Given the description of an element on the screen output the (x, y) to click on. 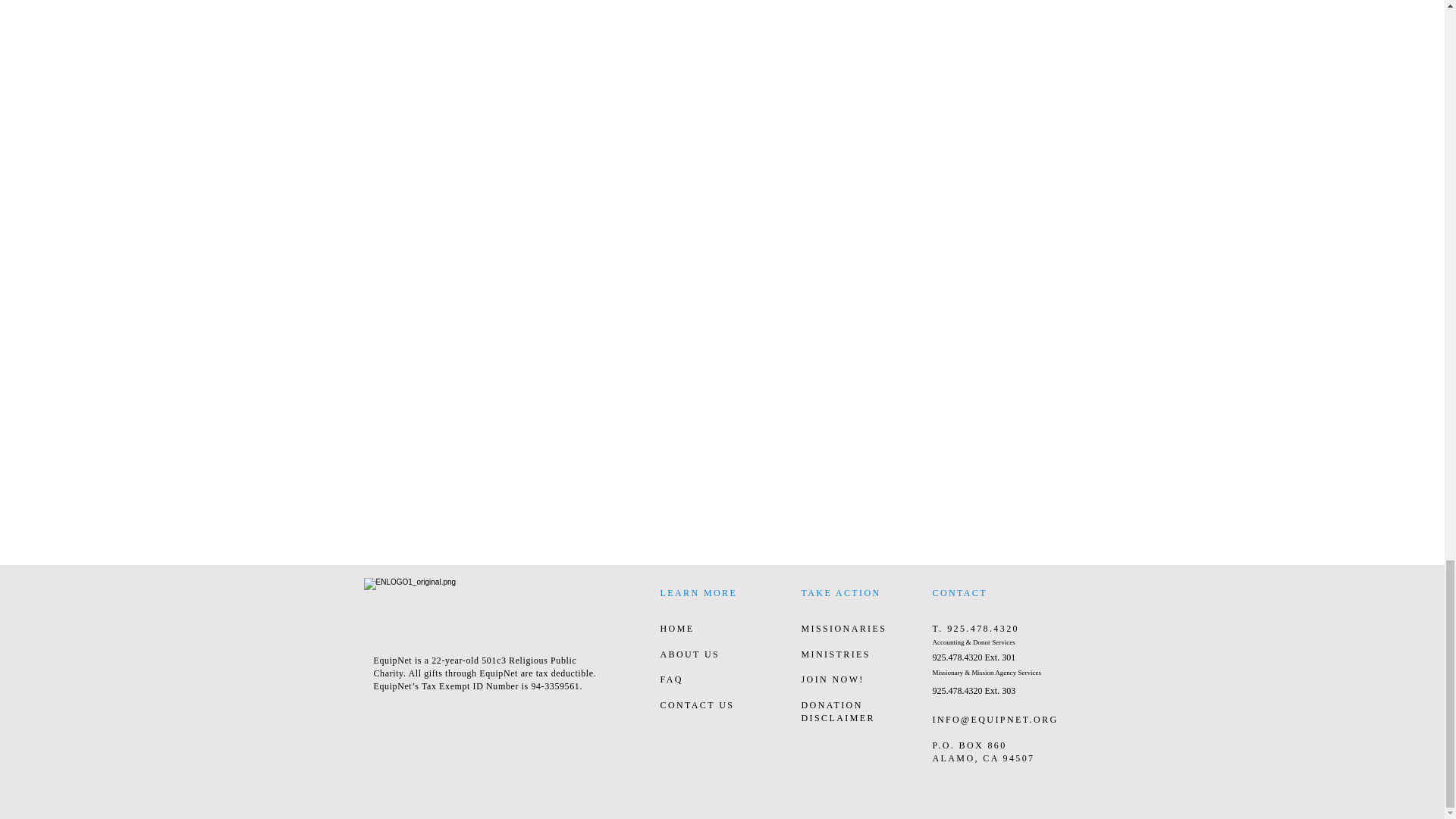
JOIN NOW! (831, 679)
ABOUT US (689, 654)
CONTACT US (696, 705)
MINISTRIES (834, 654)
MISSIONARIES (843, 628)
DONATION (830, 705)
FAQ (670, 679)
HOME (676, 628)
DISCLAIMER (837, 717)
